Given the description of an element on the screen output the (x, y) to click on. 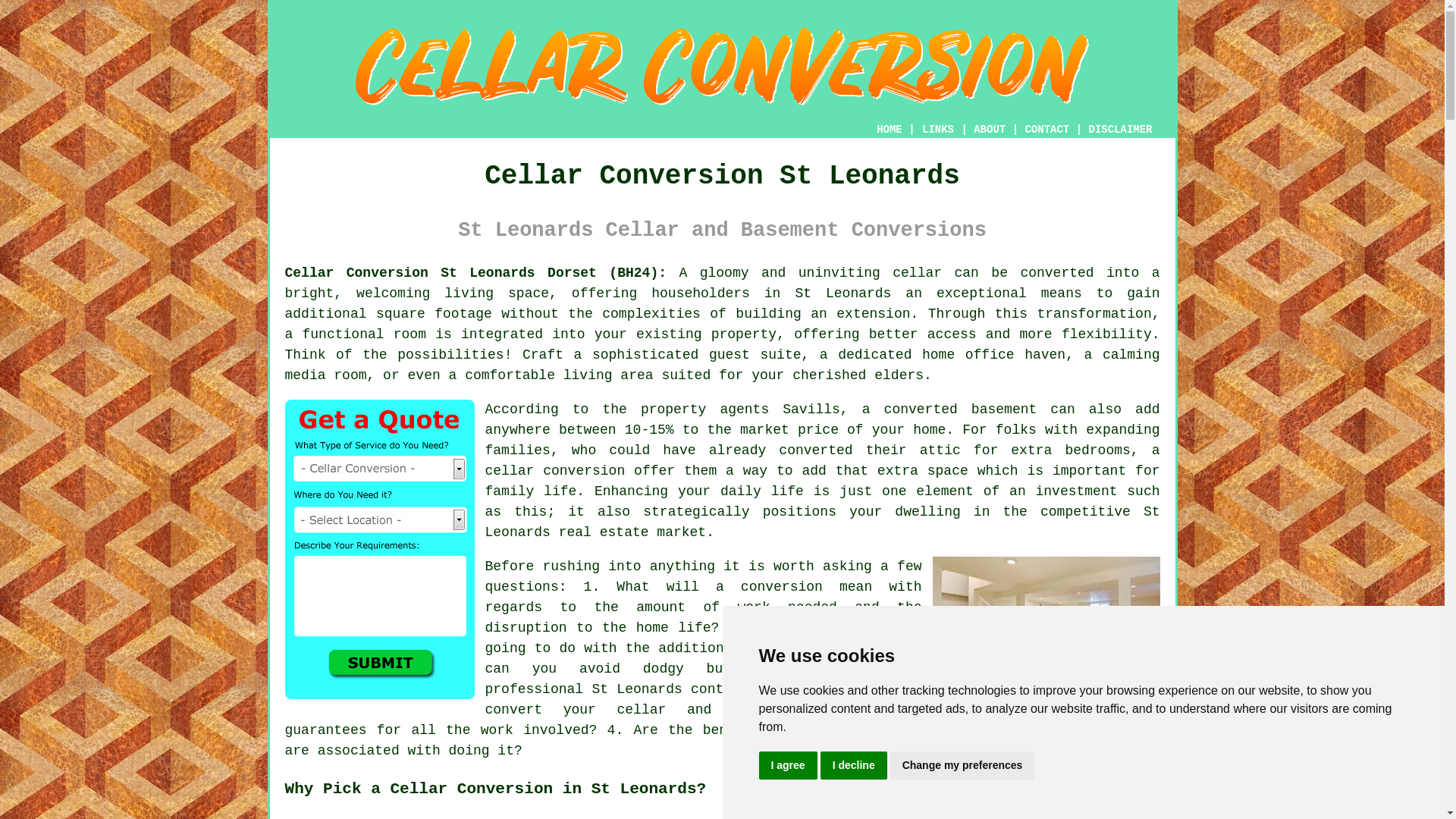
LINKS (938, 129)
Cellar Conversion St Leonards (722, 66)
HOME (889, 129)
I decline (853, 765)
Change my preferences (962, 765)
cellar (917, 272)
cellar conversion (555, 470)
I agree (787, 765)
